Given the description of an element on the screen output the (x, y) to click on. 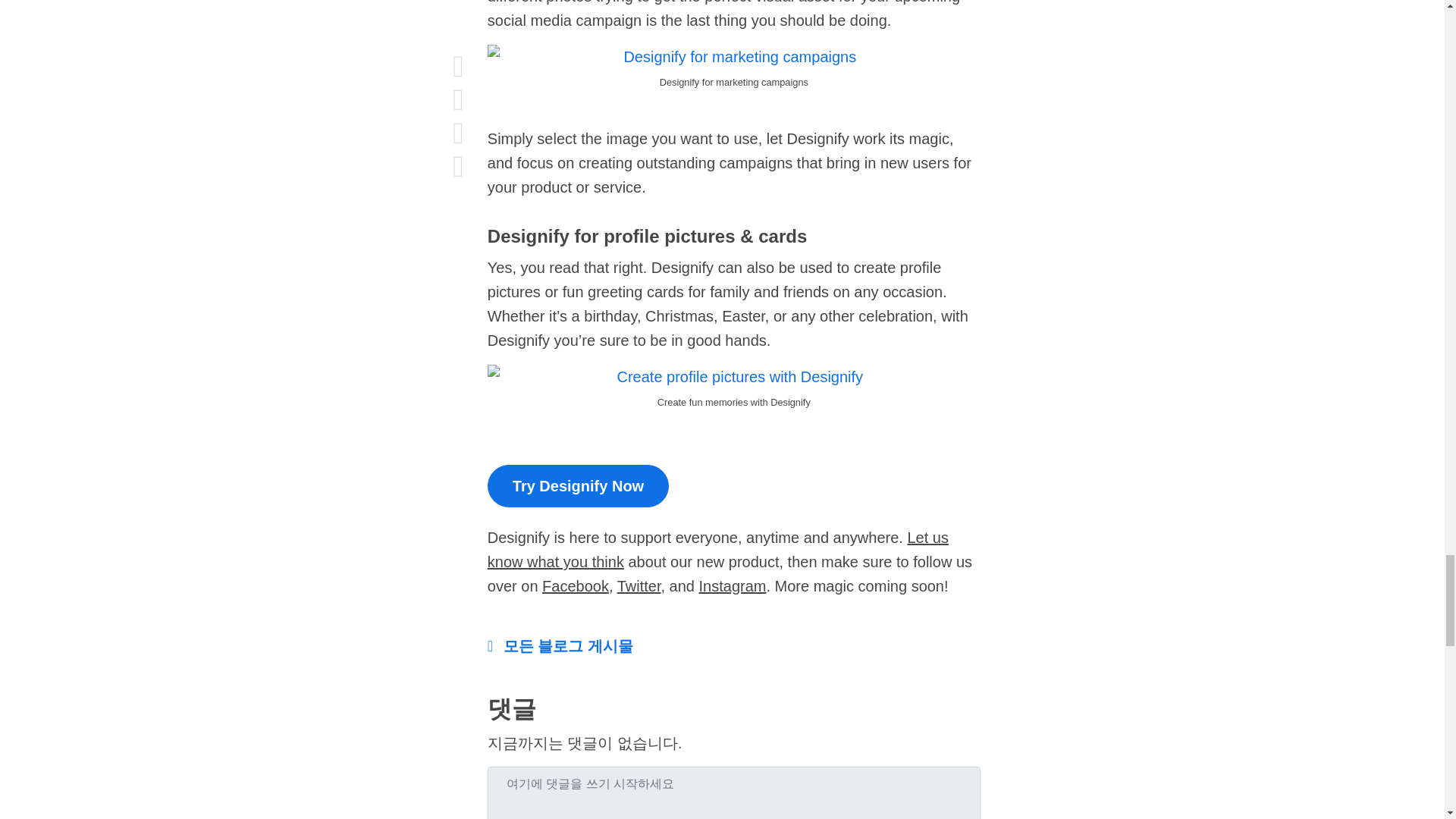
Facebook (574, 586)
Instagram (732, 586)
Try Designify Now (577, 485)
Twitter (639, 586)
Let us know what you think (718, 549)
